Given the description of an element on the screen output the (x, y) to click on. 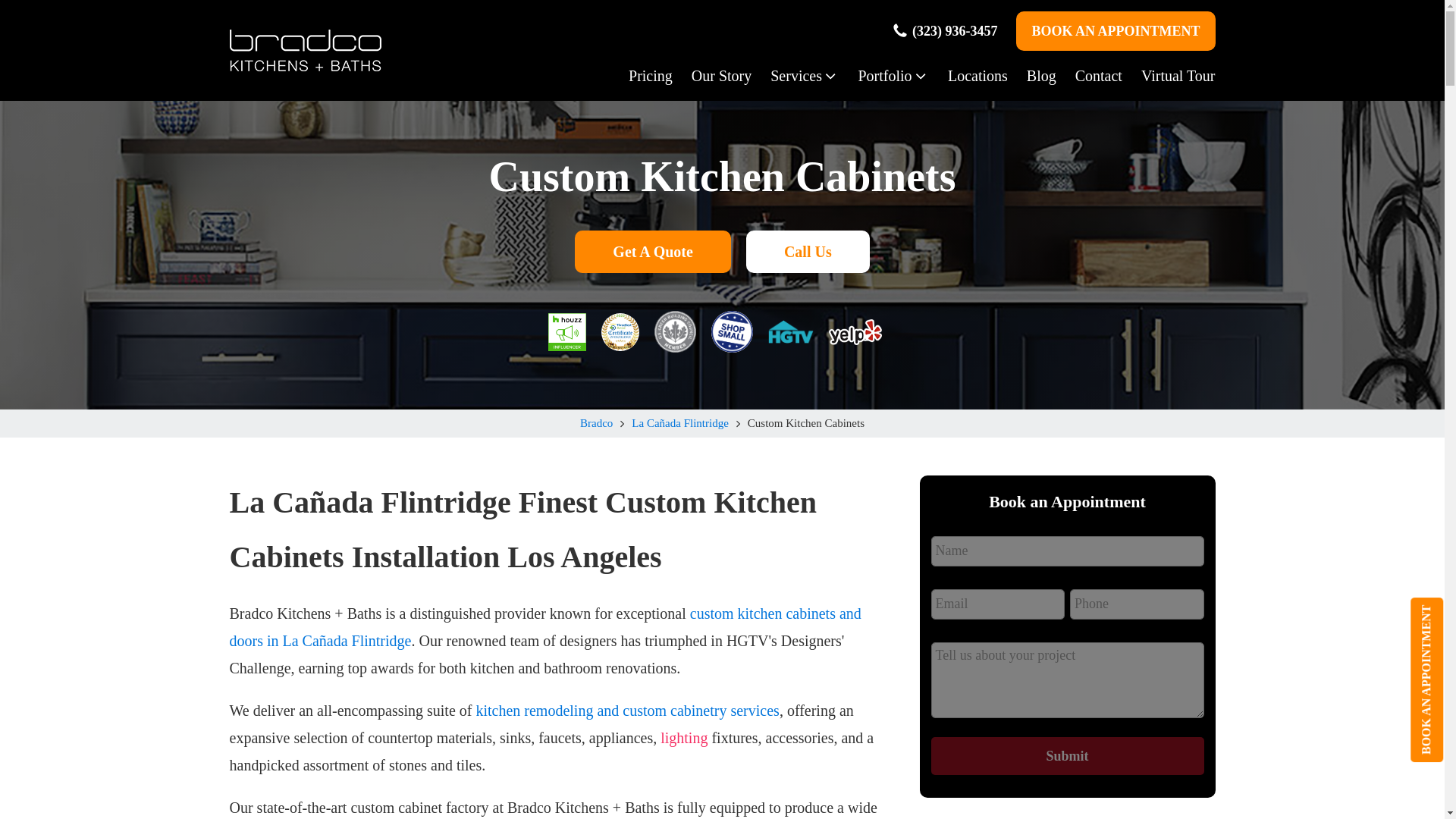
Bradco (595, 423)
Call Us (807, 251)
Locations (967, 75)
Virtual Tour (1168, 75)
Pricing (641, 75)
Portfolio (883, 75)
Get A Quote (652, 251)
BOOK AN APPOINTMENT (1115, 30)
kitchen remodeling and custom cabinetry services (627, 710)
Blog (1032, 75)
